Given the description of an element on the screen output the (x, y) to click on. 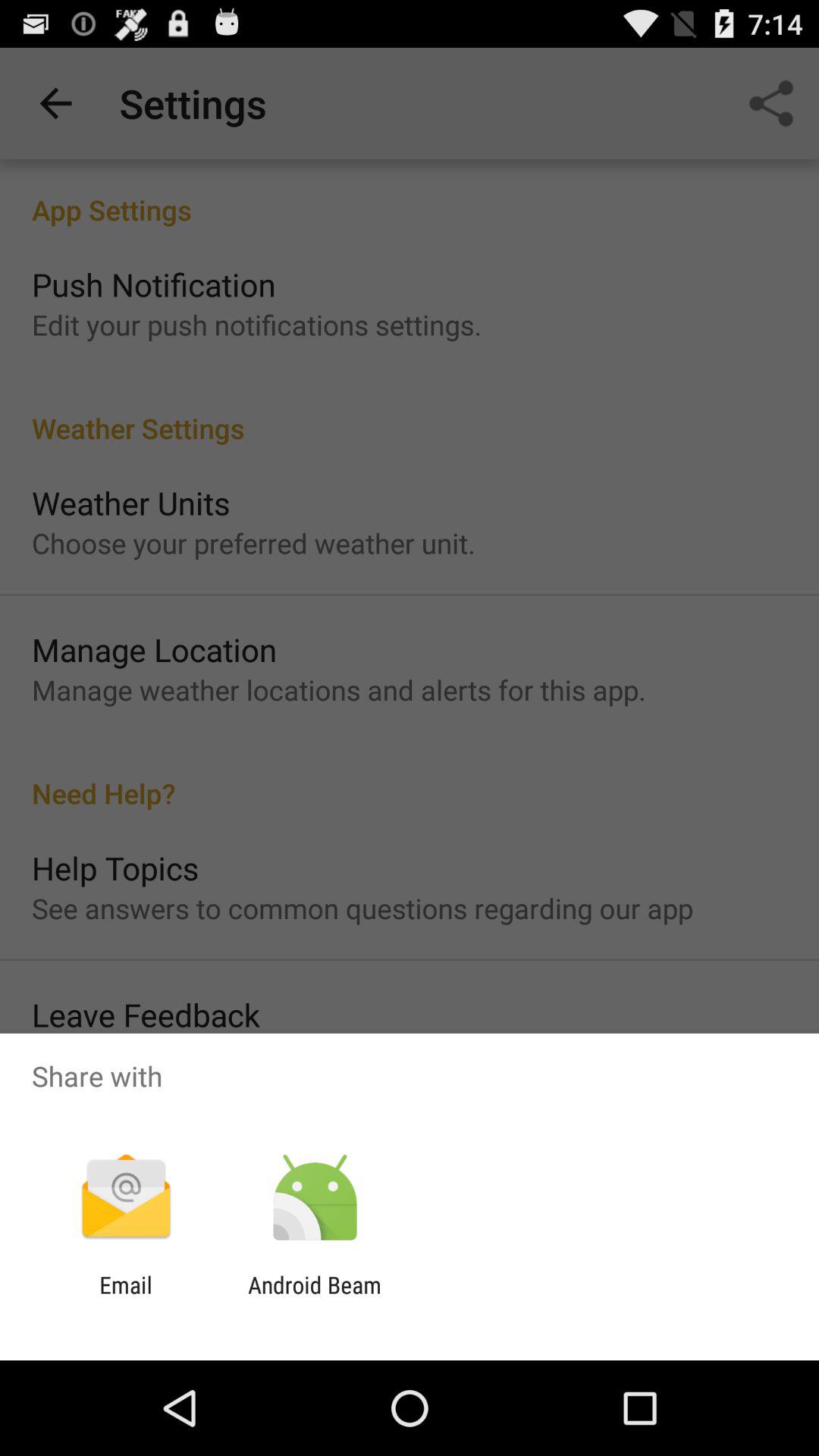
open the android beam (314, 1298)
